Given the description of an element on the screen output the (x, y) to click on. 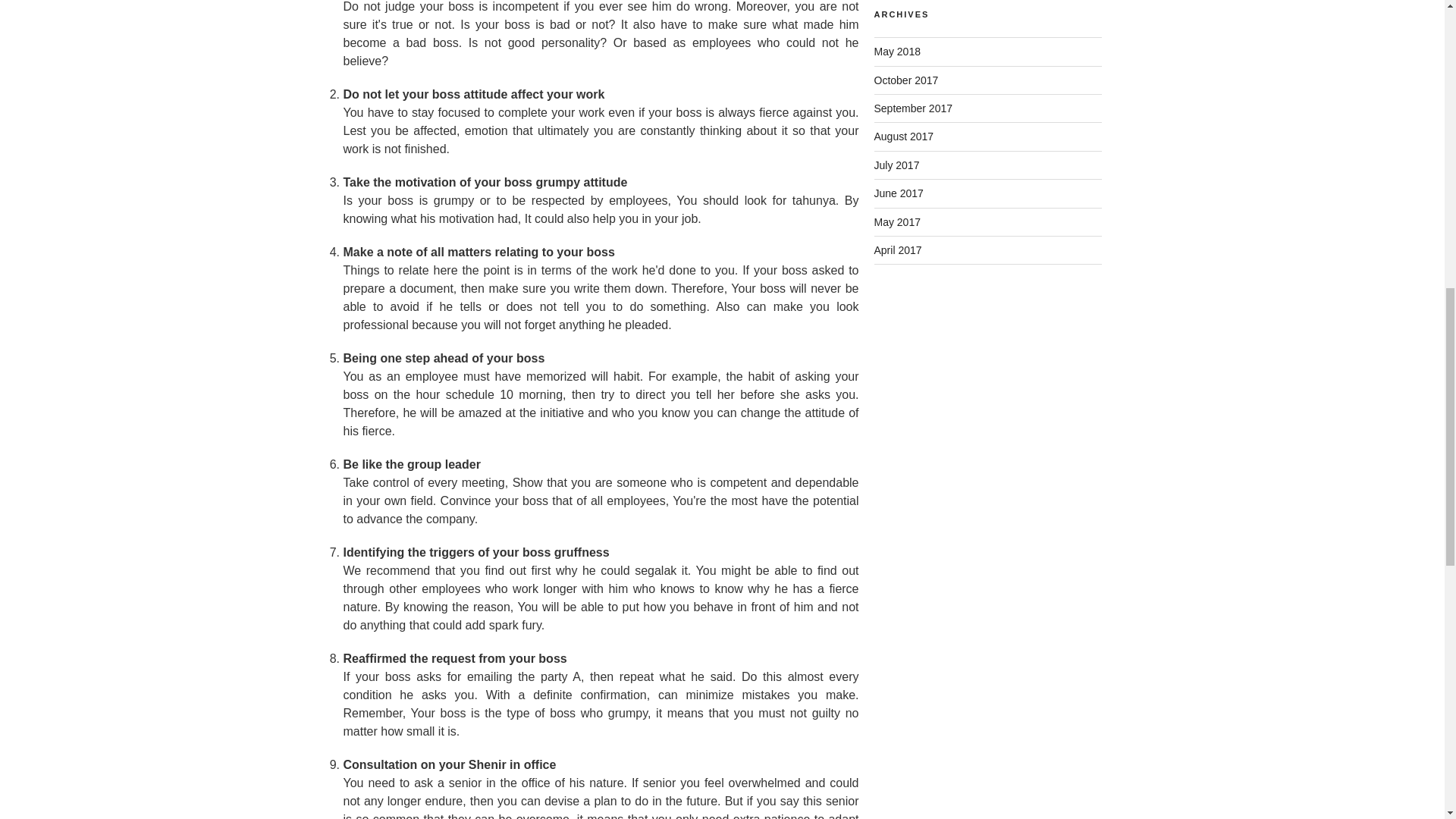
September 2017 (912, 108)
June 2017 (898, 193)
August 2017 (903, 136)
May 2017 (896, 222)
October 2017 (905, 80)
May 2018 (896, 51)
July 2017 (895, 164)
April 2017 (897, 250)
